Given the description of an element on the screen output the (x, y) to click on. 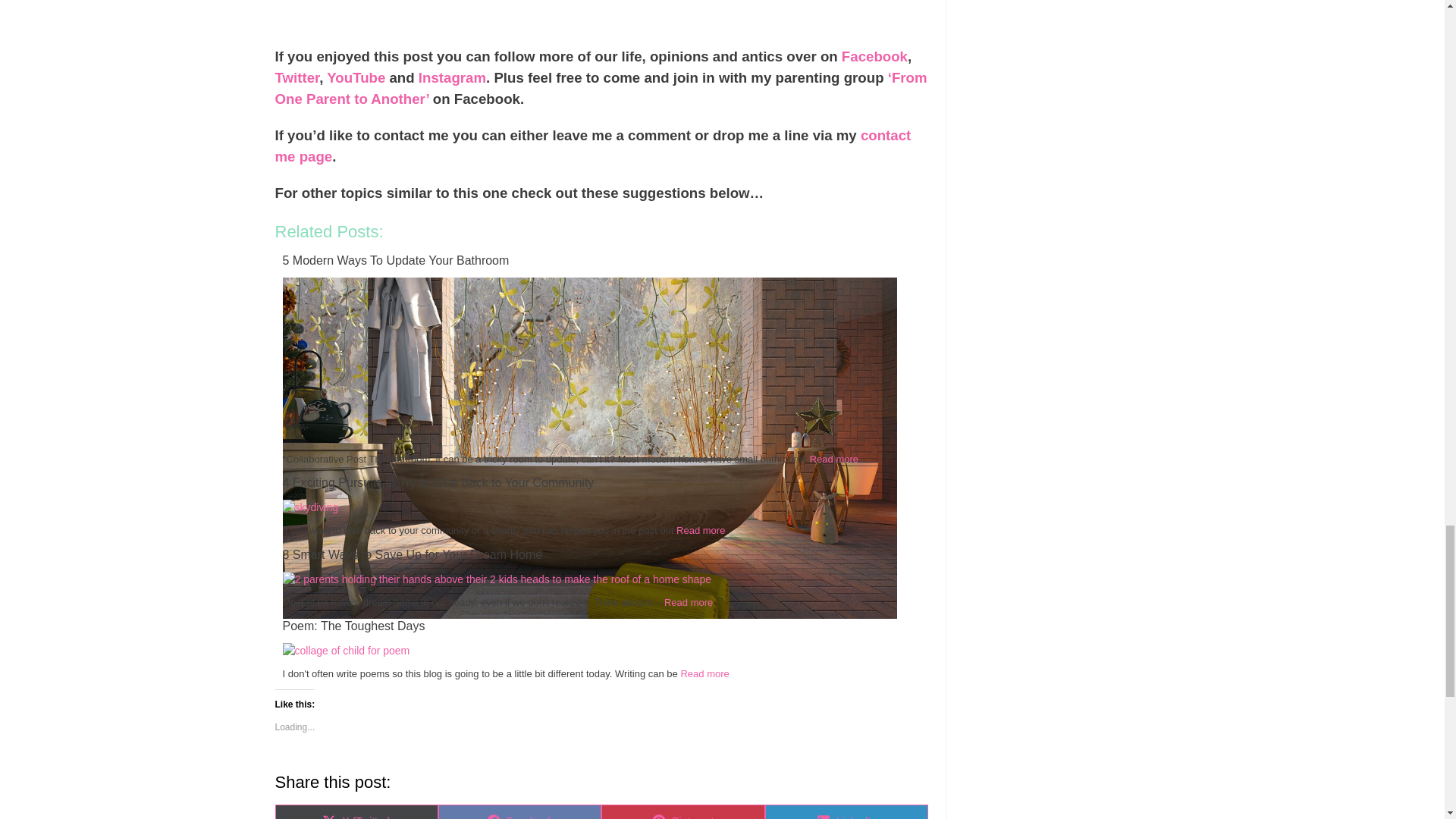
Contact Me (593, 145)
8 Smart Ways to Save Up for Your Dream Home (601, 555)
4 Exciting Pursuits to Try to Give Back to Your Community (309, 507)
Twitter (296, 77)
4 Exciting Pursuits to Try to Give Back to Your Community (601, 483)
5 Modern Ways To Update Your Bathroom (601, 260)
contact me page (593, 145)
4 Exciting Pursuits to Try to Give Back to Your Community (601, 483)
Read more (701, 530)
Instagram (452, 77)
8 Smart Ways to Save Up for Your Dream Home (601, 555)
5 Modern Ways To Update Your Bathroom (589, 614)
5 Modern Ways To Update Your Bathroom (601, 260)
8 Smart Ways to Save Up for Your Dream Home (496, 579)
Facebook (874, 56)
